Given the description of an element on the screen output the (x, y) to click on. 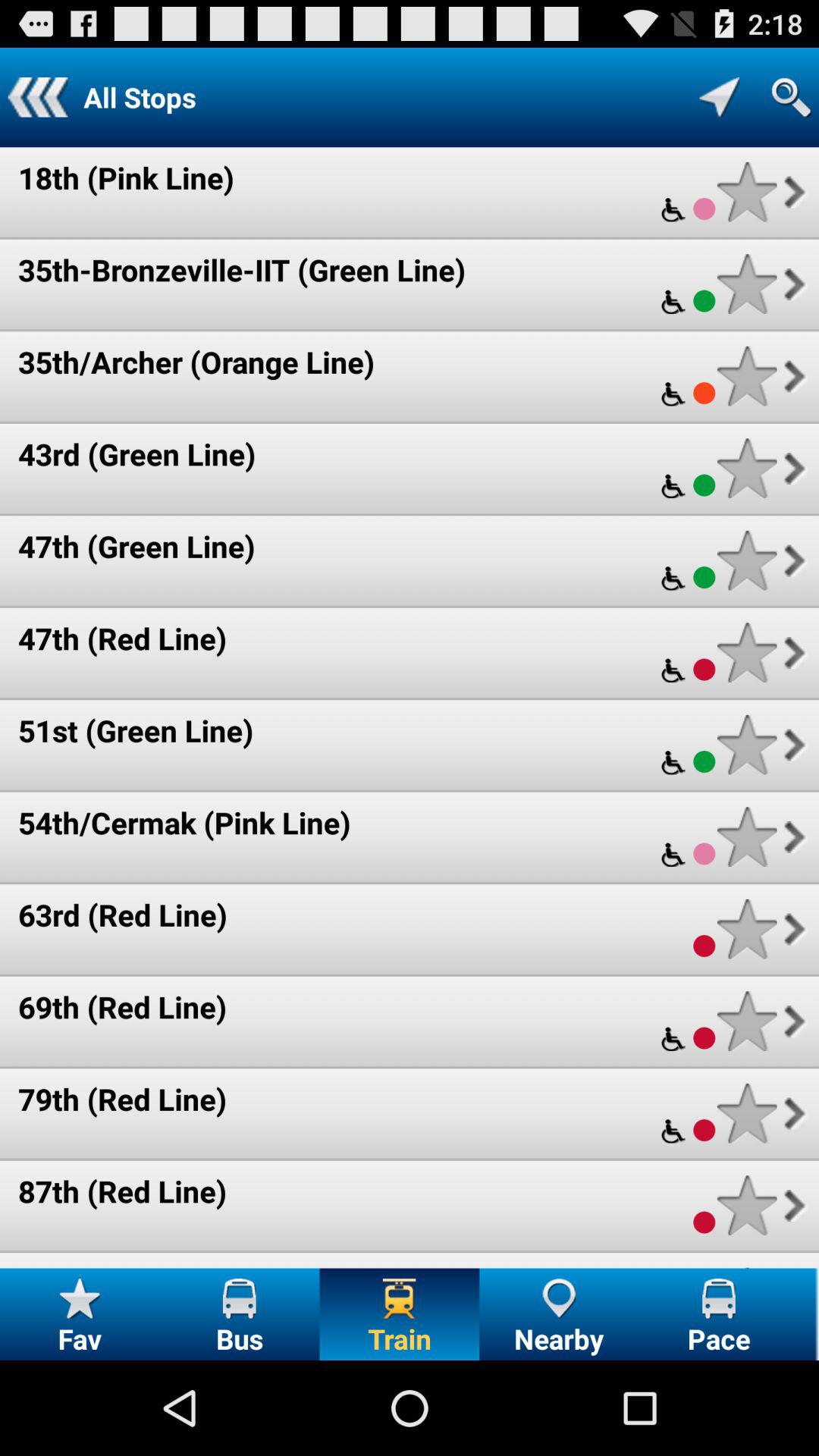
tap app next to the all stops icon (37, 97)
